Given the description of an element on the screen output the (x, y) to click on. 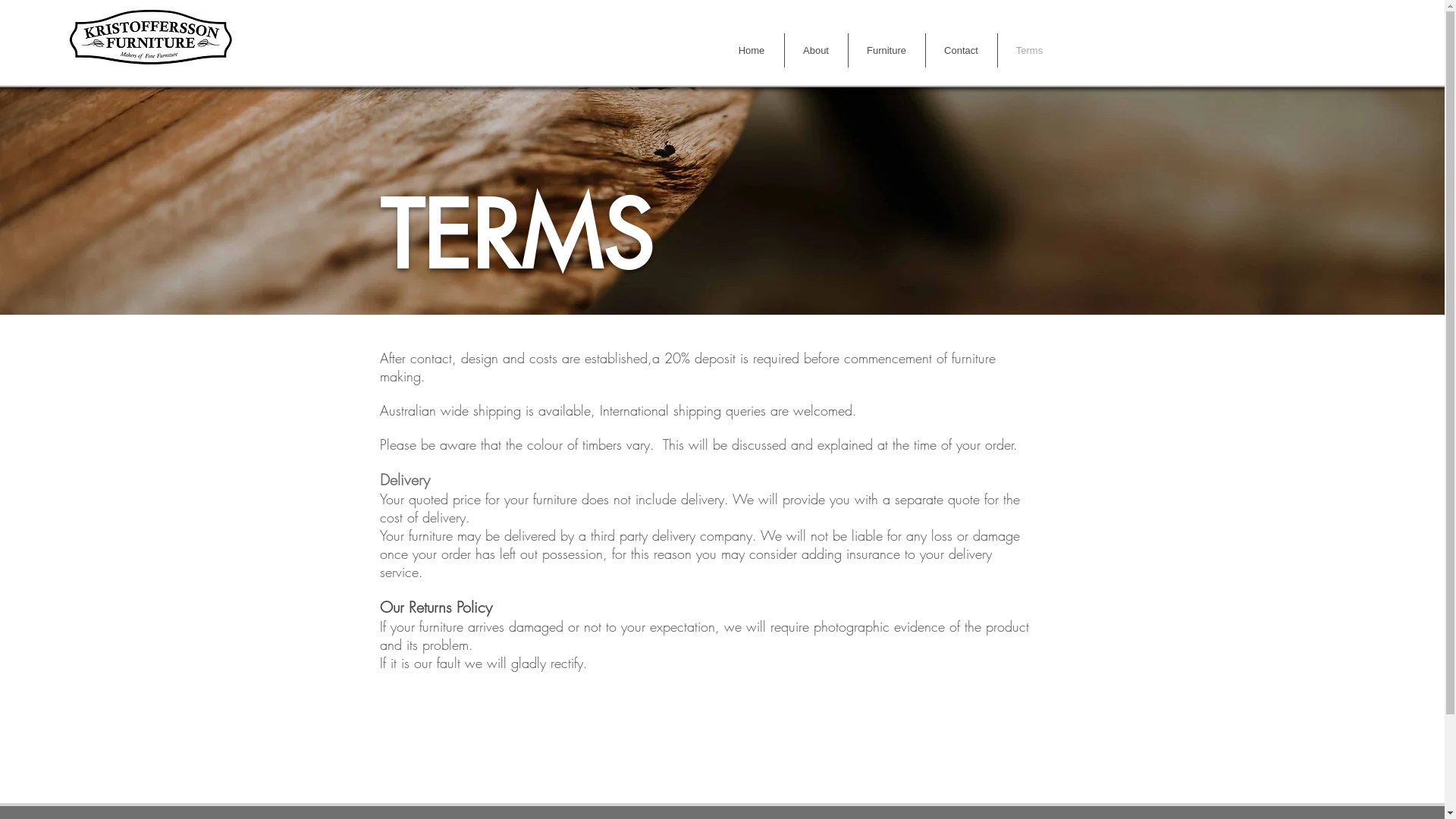
Home Element type: text (750, 50)
Contact Element type: text (960, 50)
Terms Element type: text (1029, 50)
Kristofferson | Makers of fine furniture Element type: hover (149, 36)
Furniture Element type: text (885, 50)
About Element type: text (815, 50)
